Given the description of an element on the screen output the (x, y) to click on. 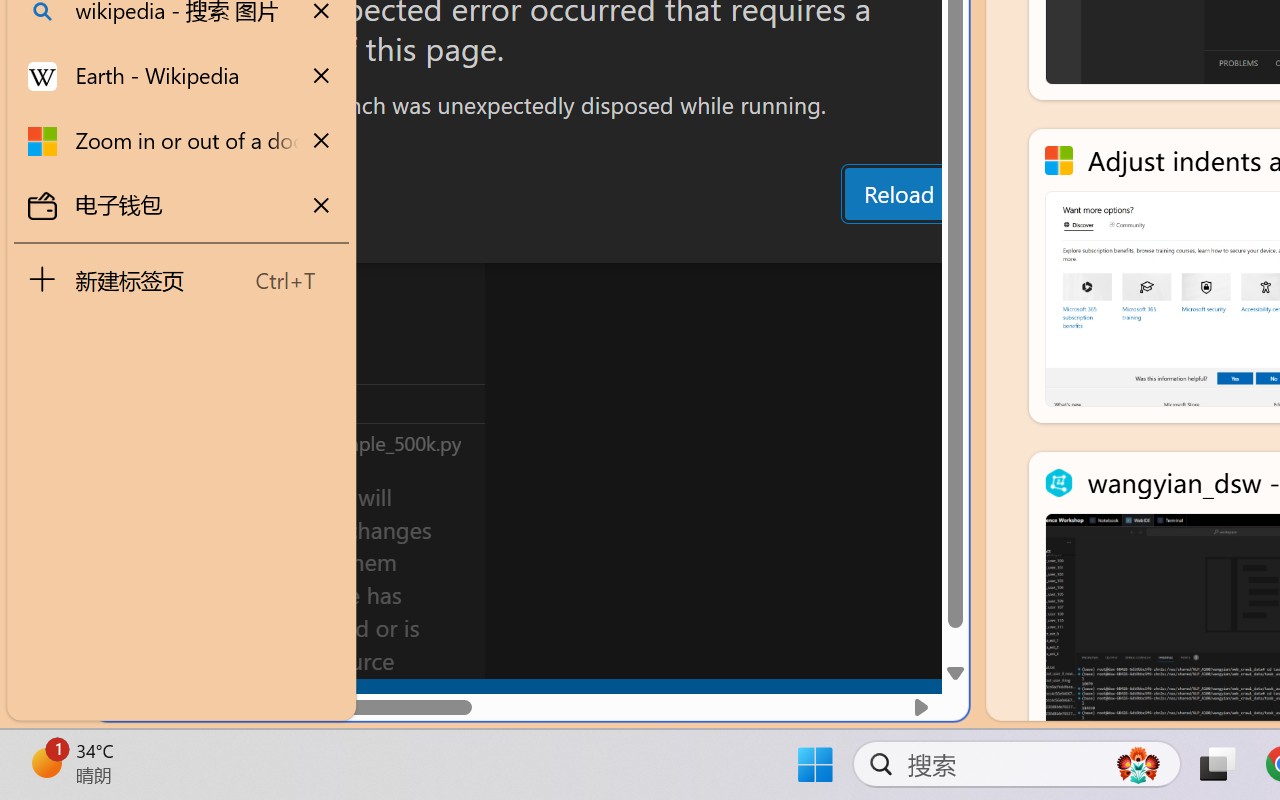
No Problems (212, 698)
Manage (135, 635)
remote (122, 698)
Output (Ctrl+Shift+U) (696, 243)
Reload (898, 193)
Earth - Wikipedia (181, 75)
Terminal (Ctrl+`) (1021, 243)
Debug Console (Ctrl+Shift+Y) (854, 243)
